Given the description of an element on the screen output the (x, y) to click on. 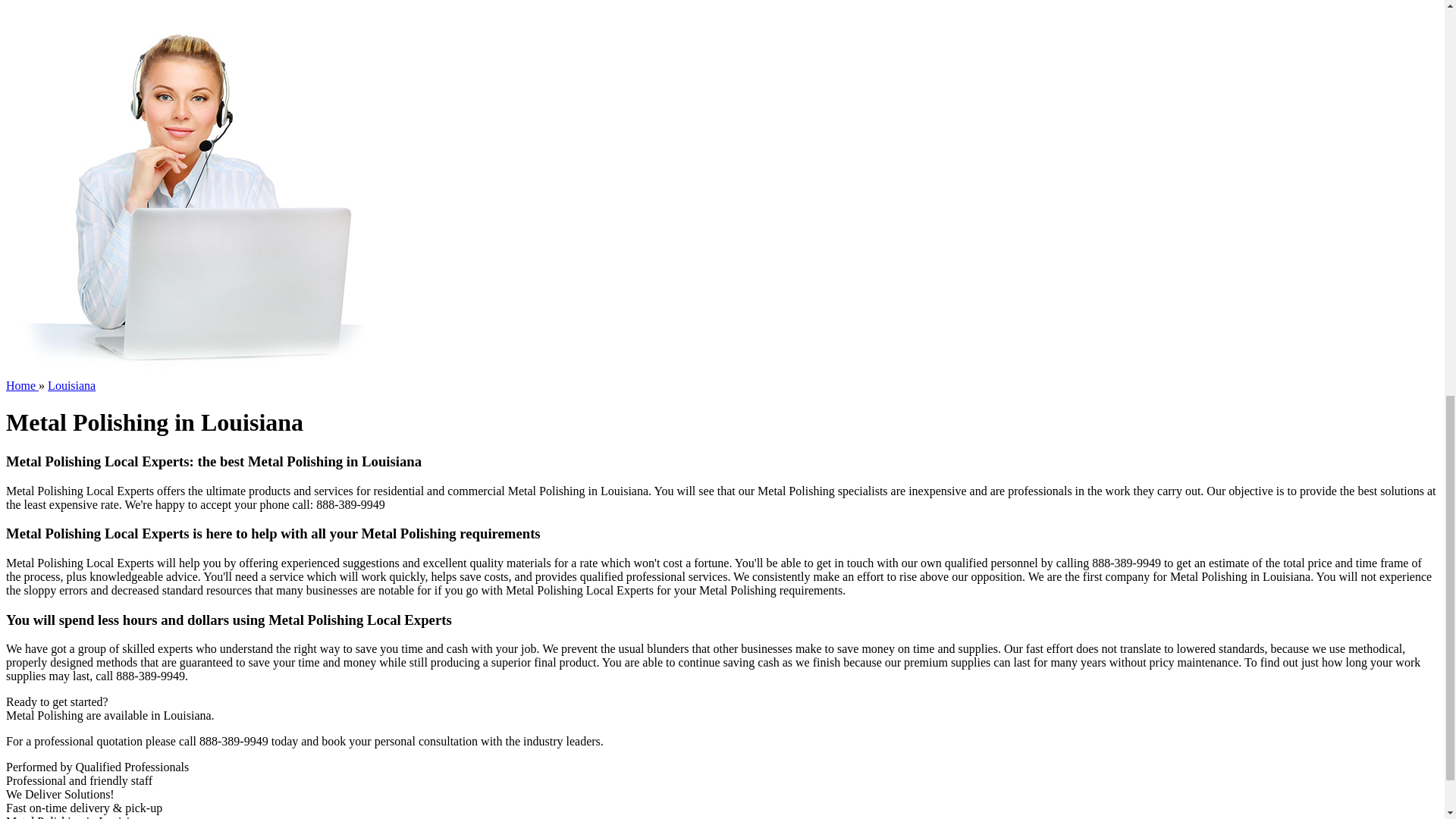
Louisiana (72, 385)
Home (22, 385)
